Given the description of an element on the screen output the (x, y) to click on. 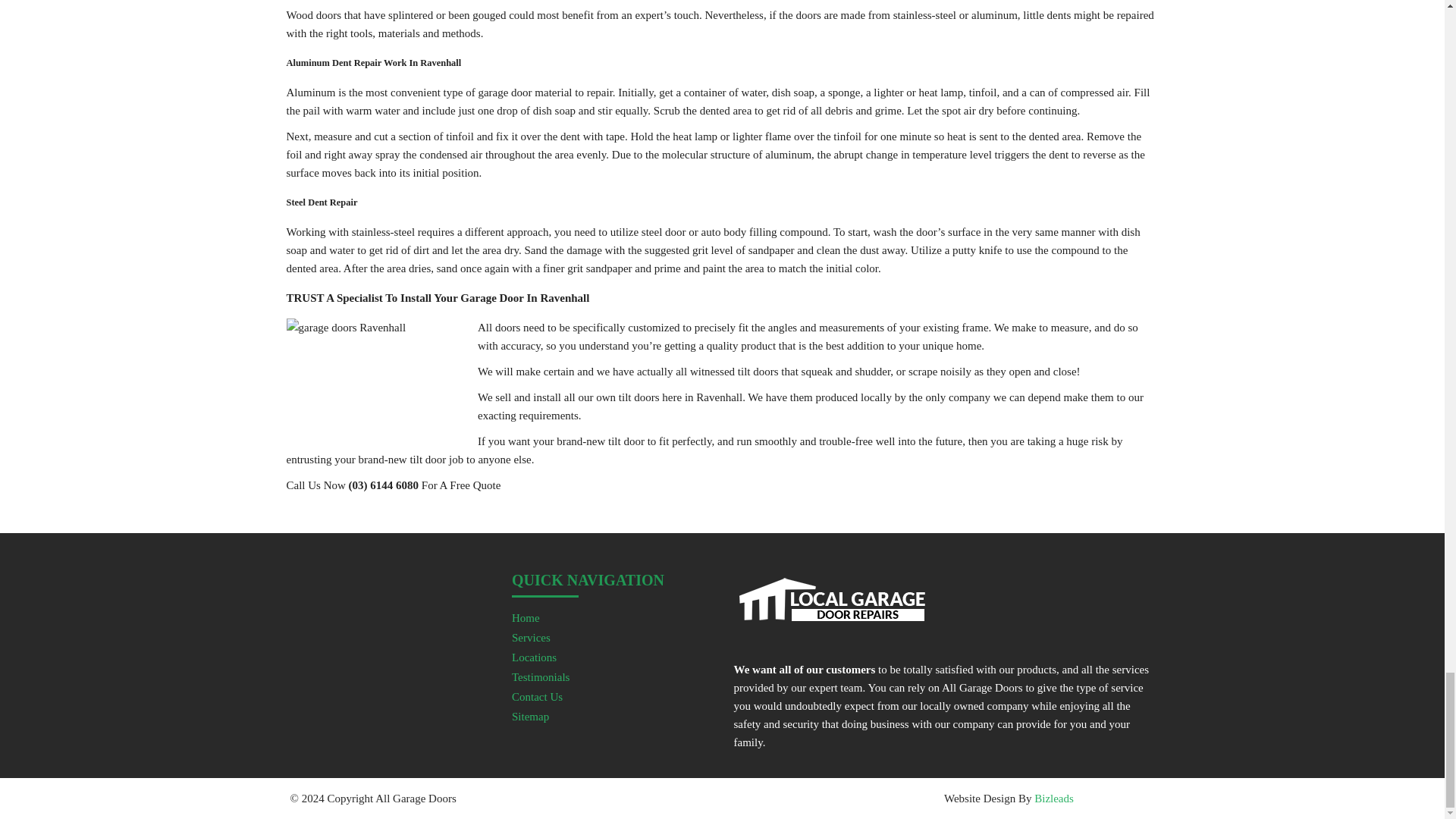
Services (531, 637)
Sitemap (530, 716)
Locations (534, 657)
Contact Us (537, 696)
Home (526, 617)
Bizleads (1053, 798)
Testimonials (540, 676)
